Given the description of an element on the screen output the (x, y) to click on. 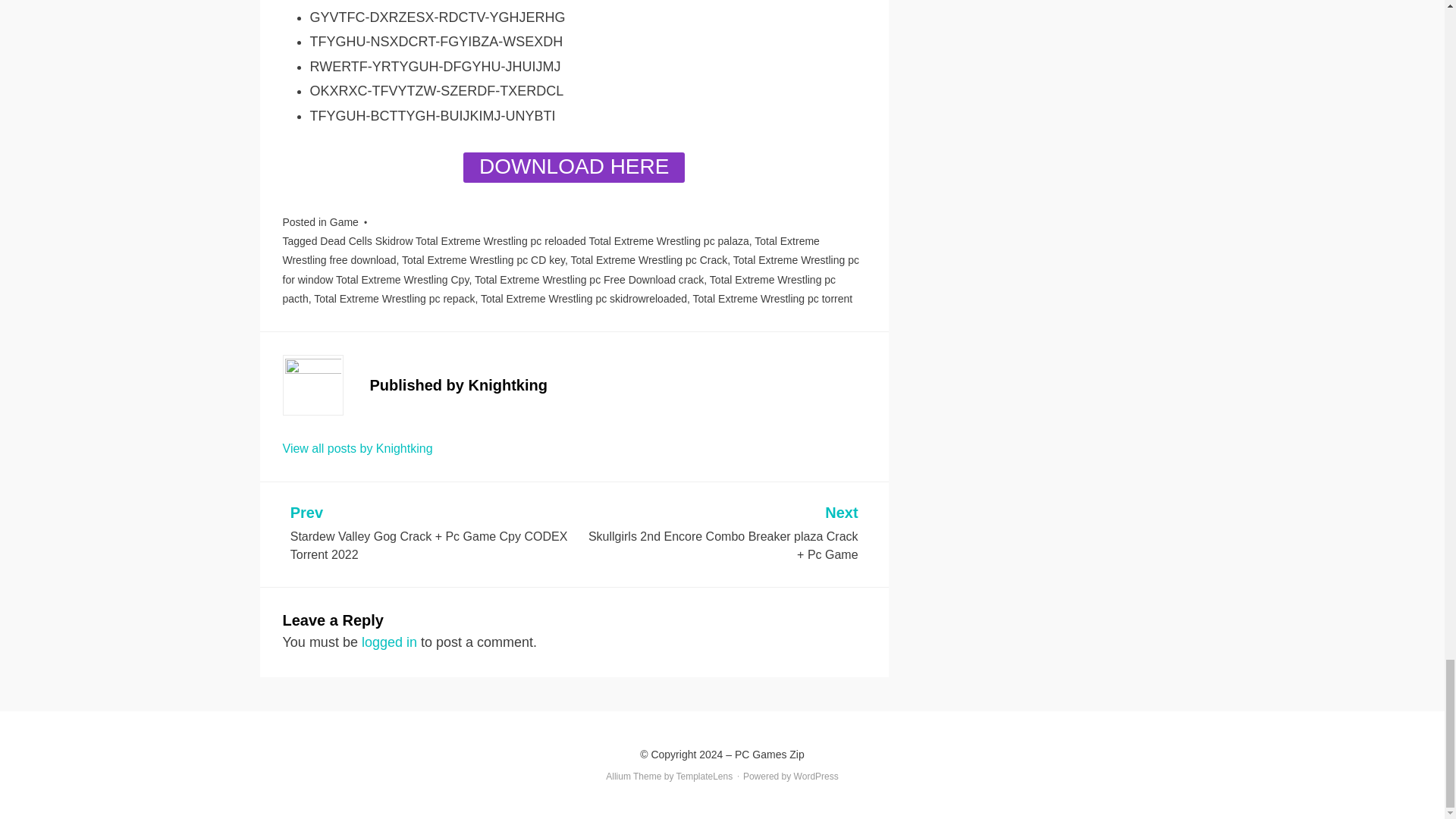
Total Extreme Wrestling pc torrent (773, 298)
Total Extreme Wrestling pc CD key (482, 259)
Total Extreme Wrestling pc pacth (558, 288)
logged in (388, 642)
Total Extreme Wrestling pc Free Download crack (588, 279)
DOWNLOAD HERE (573, 167)
TemplateLens (705, 776)
WordPress (815, 776)
Total Extreme Wrestling free download (550, 250)
View all posts by Knightking (357, 448)
Total Extreme Wrestling pc skidrowreloaded (583, 298)
Total Extreme Wrestling pc repack (394, 298)
Game (344, 222)
